Given the description of an element on the screen output the (x, y) to click on. 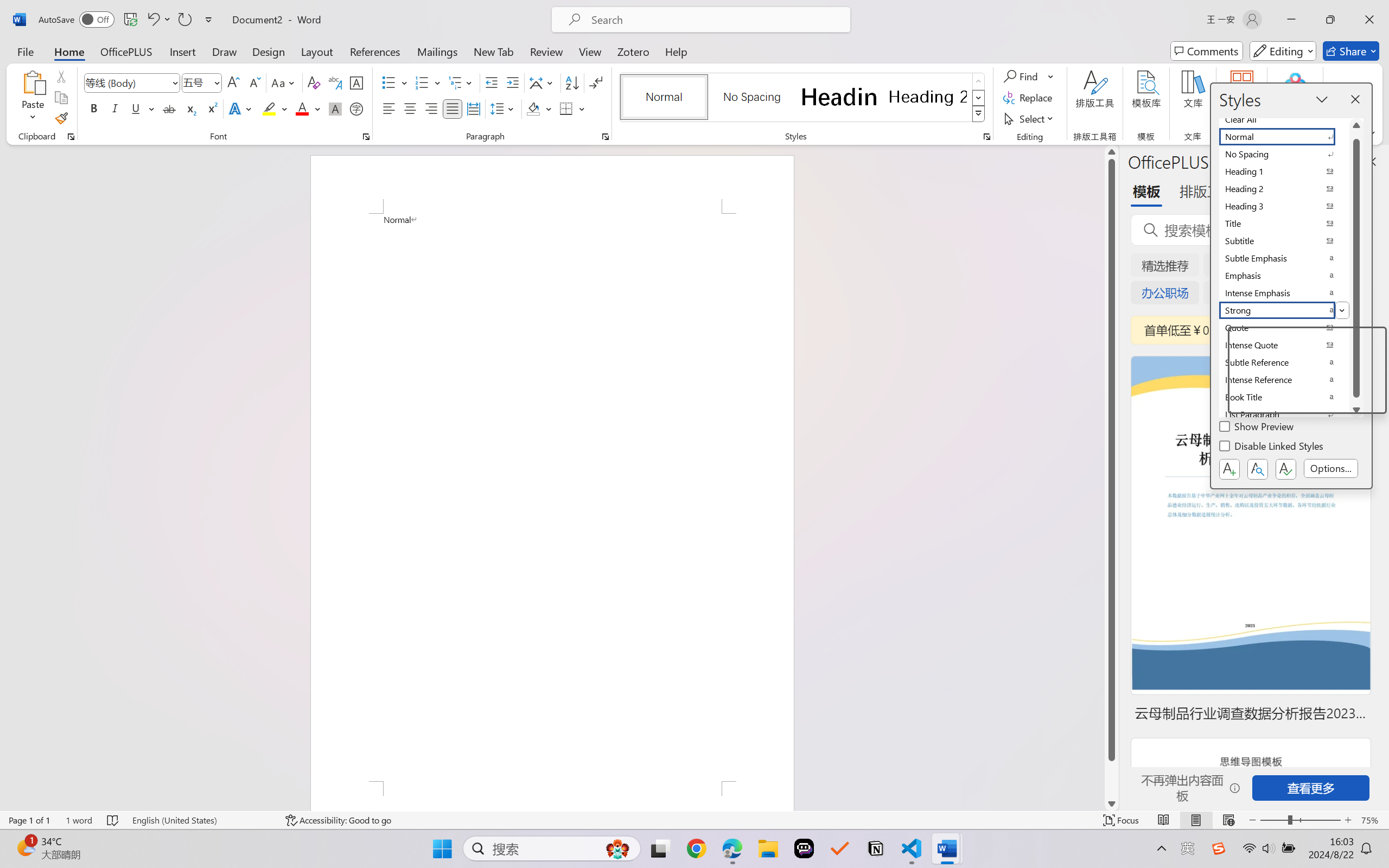
Options... (1331, 468)
Print Layout (1196, 819)
Disable Linked Styles (1272, 447)
Styles (978, 113)
Bullets (388, 82)
Align Right (431, 108)
New Tab (493, 51)
Focus  (1121, 819)
Class: NetUIScrollBar (1111, 477)
Replace... (1029, 97)
Accessibility Checker Accessibility: Good to go (338, 819)
Mode (1283, 50)
Strong (1283, 310)
Italic (115, 108)
